Given the description of an element on the screen output the (x, y) to click on. 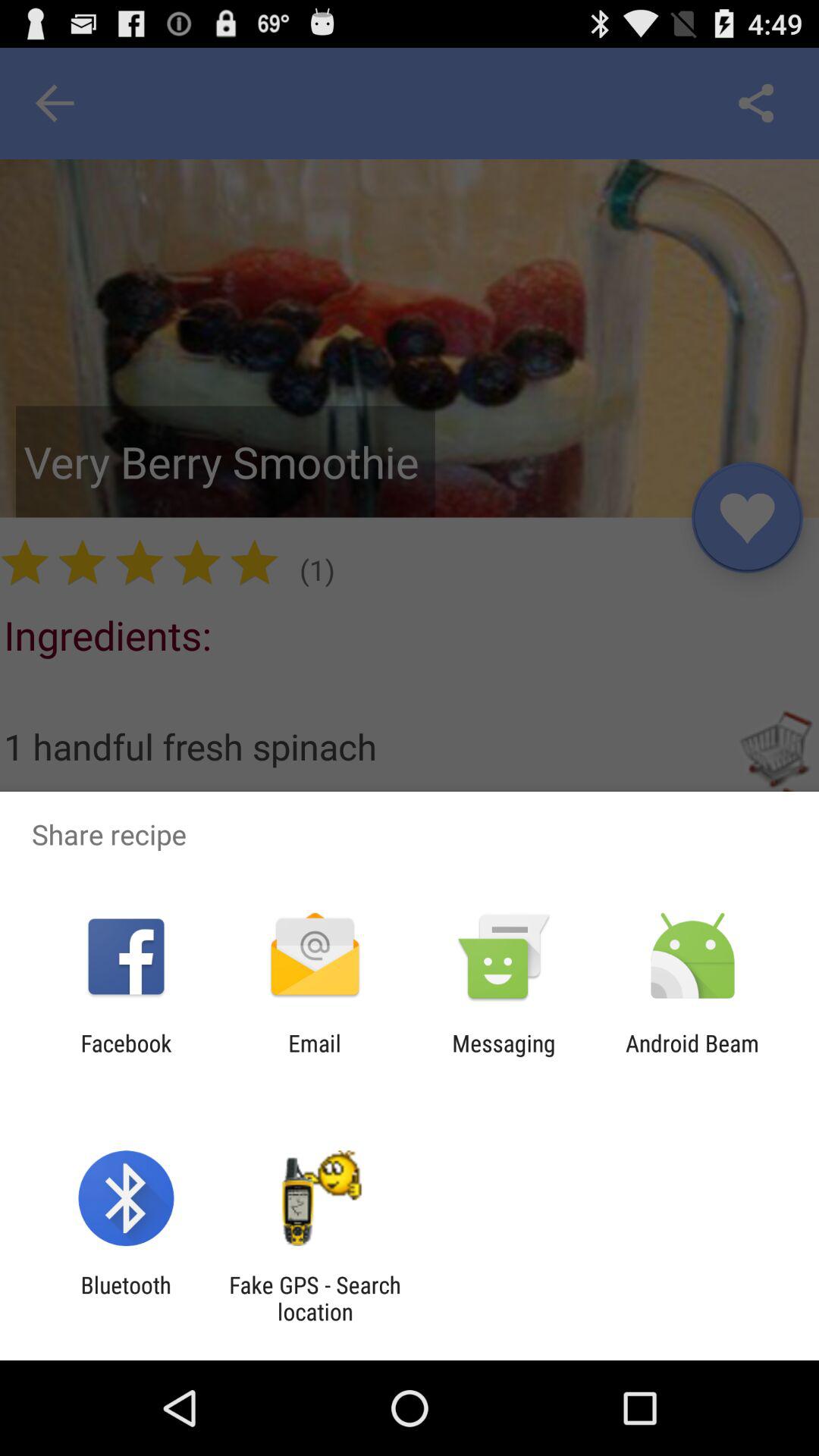
turn off the icon to the right of facebook app (314, 1056)
